Given the description of an element on the screen output the (x, y) to click on. 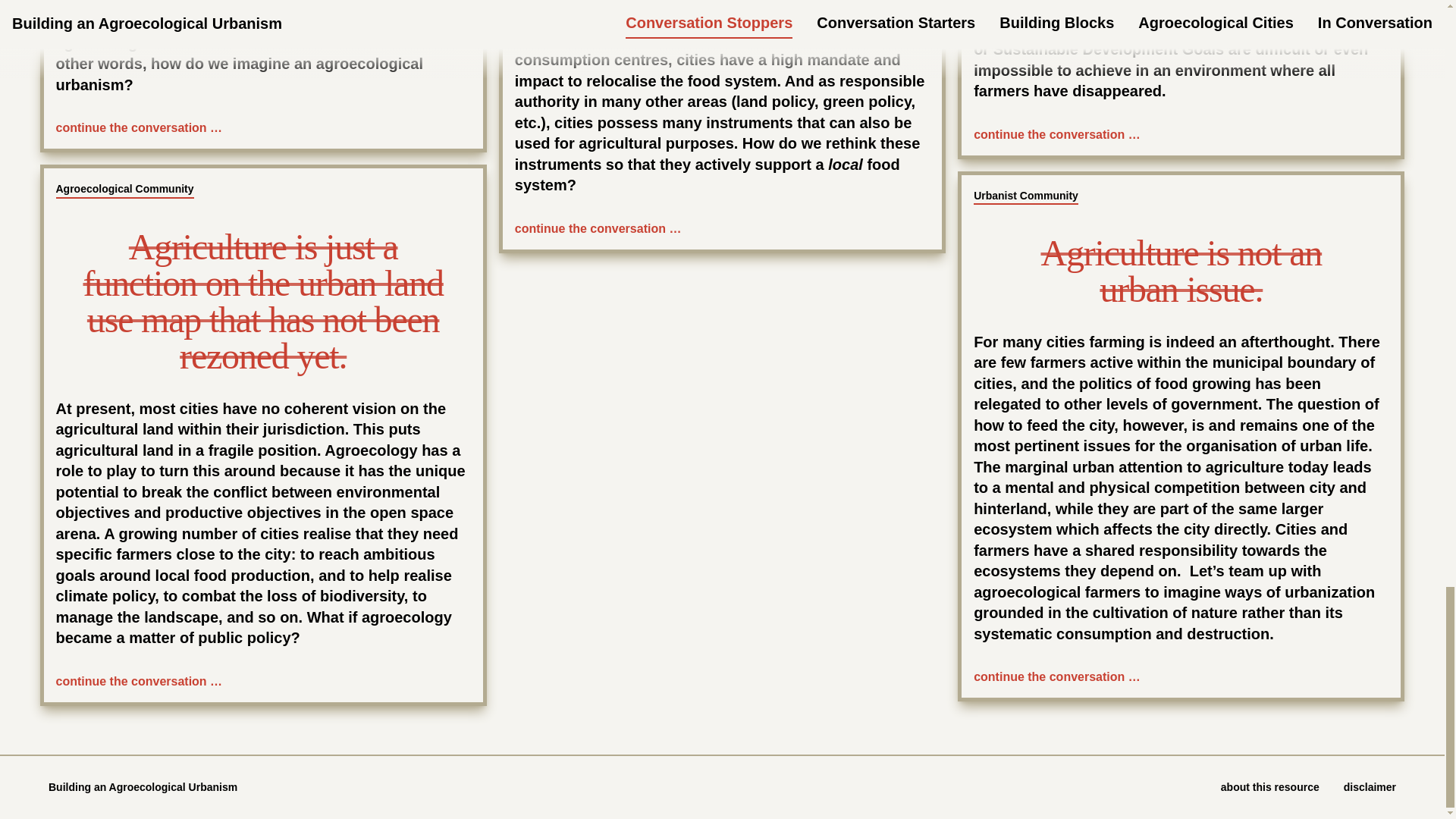
Building an Agroecological Urbanism (142, 786)
disclaimer (1369, 787)
about this resource (1270, 787)
